Given the description of an element on the screen output the (x, y) to click on. 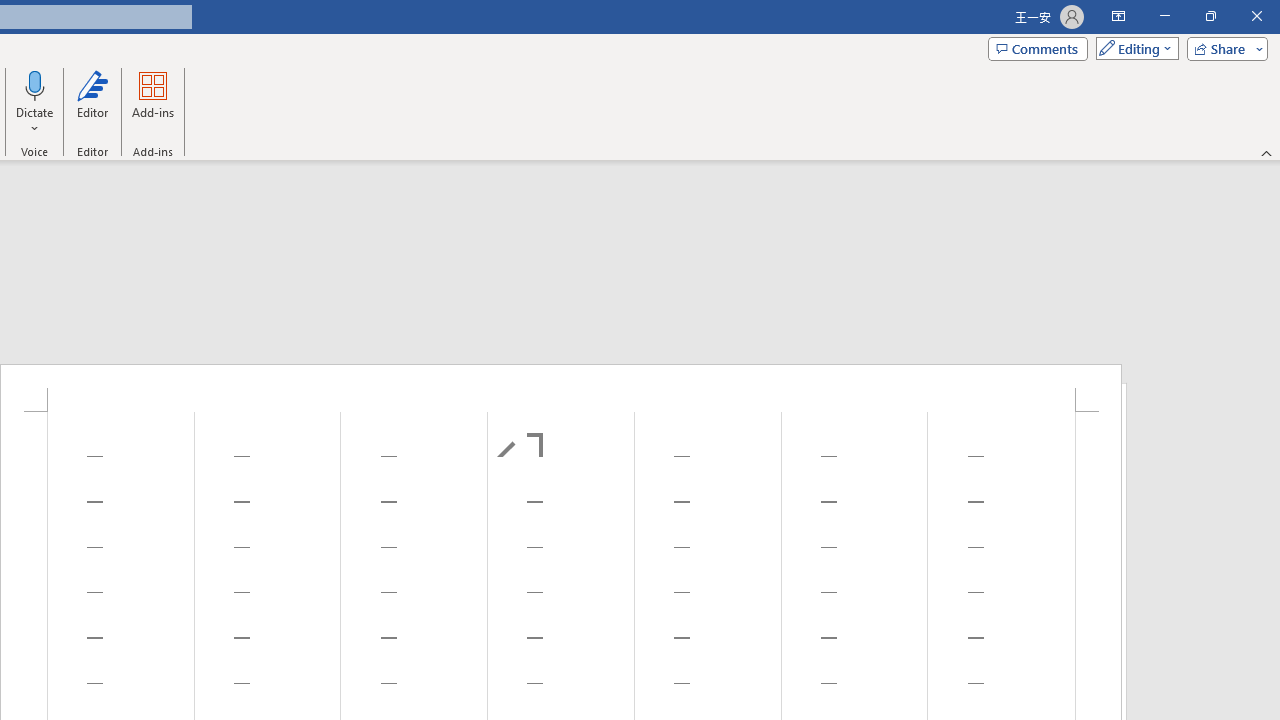
Restore Down (1210, 16)
